Given the description of an element on the screen output the (x, y) to click on. 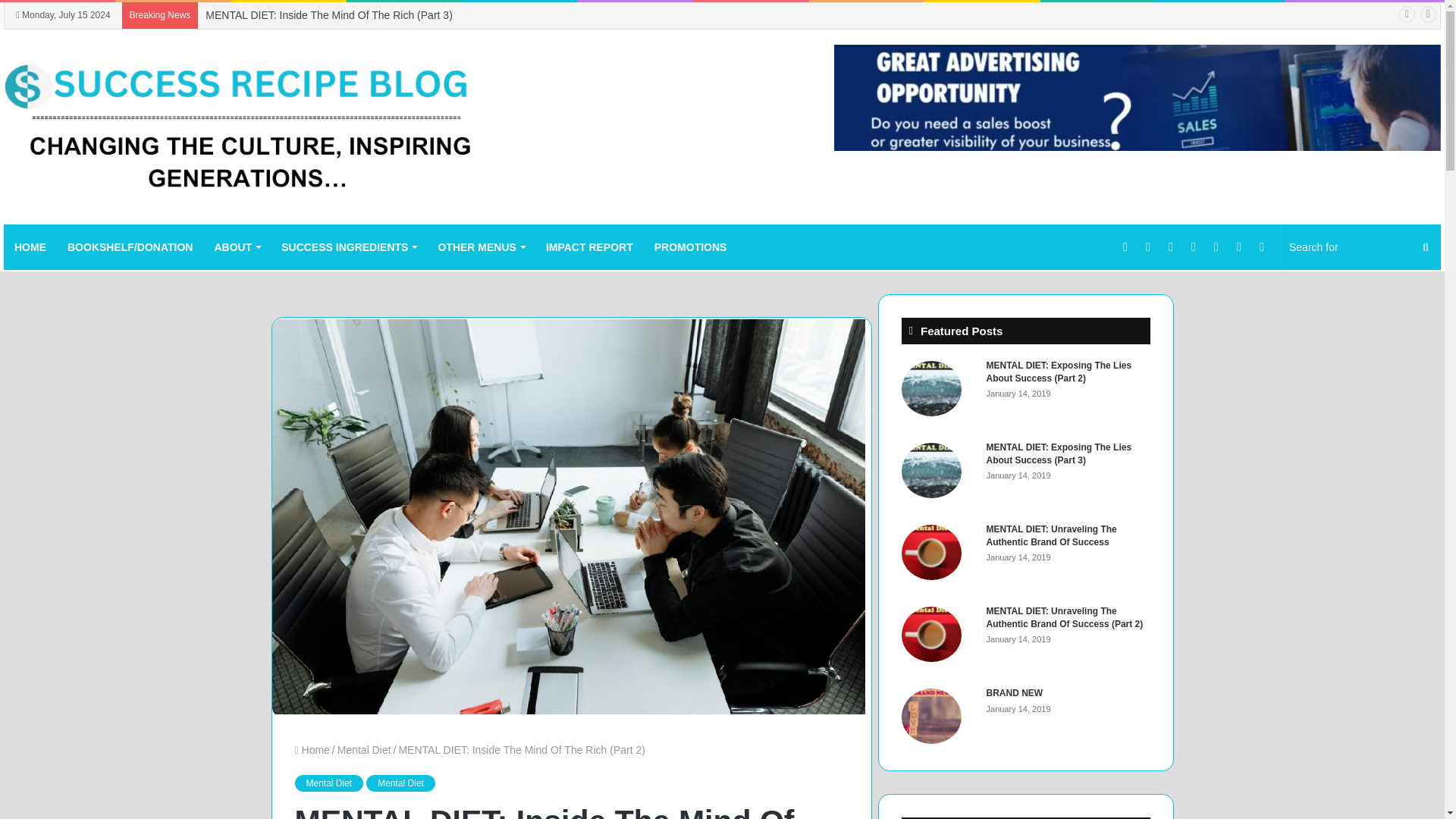
Home (311, 749)
SUCCESS INGREDIENTS (348, 247)
Success Recipe Blog (240, 126)
ABOUT (236, 247)
Search for (1361, 247)
HOME (30, 247)
PROMOTIONS (690, 247)
Mental Diet (328, 782)
OTHER MENUS (480, 247)
Mental Diet (400, 782)
IMPACT REPORT (589, 247)
Mental Diet (364, 749)
